Given the description of an element on the screen output the (x, y) to click on. 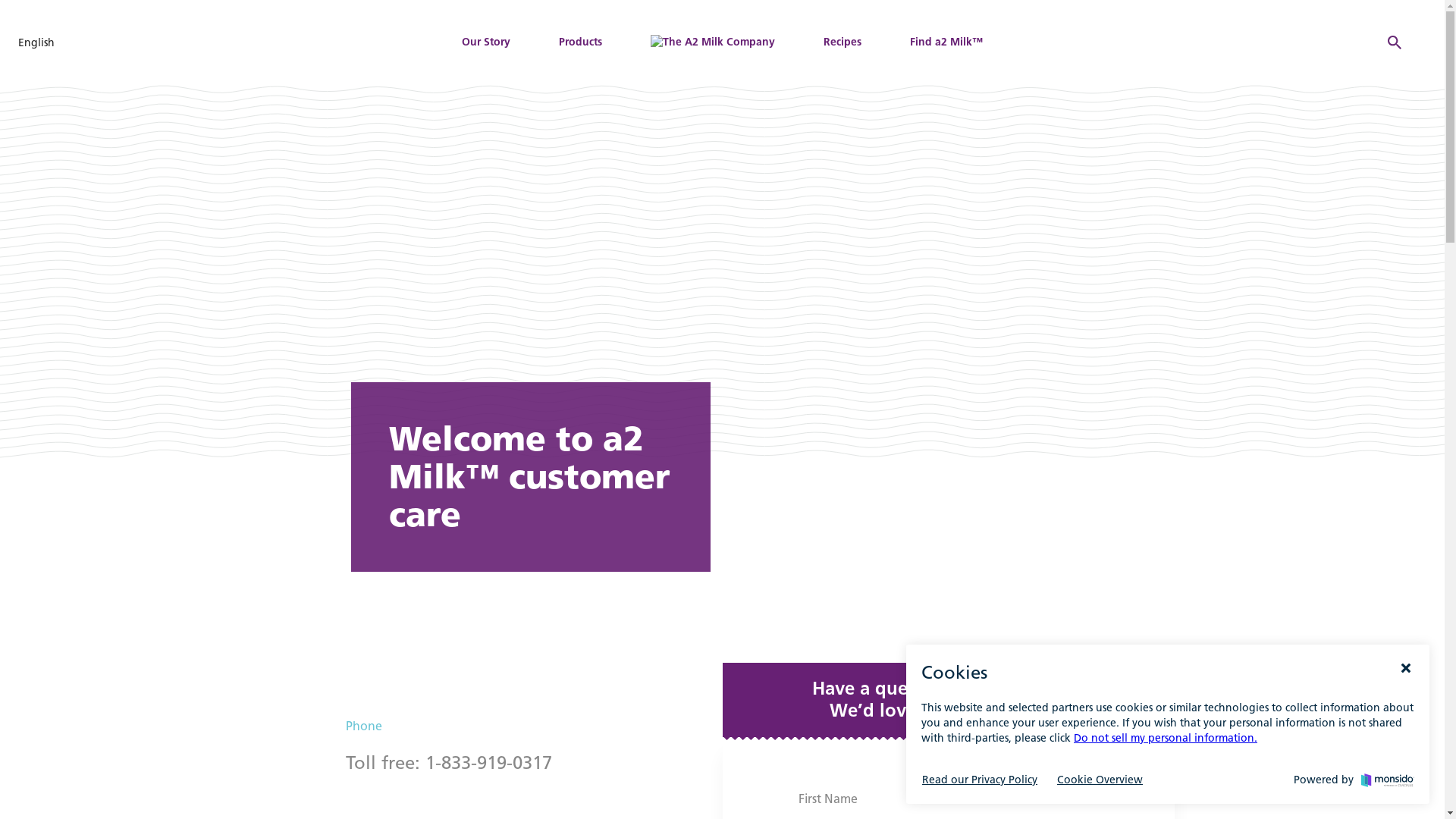
Recipes Element type: text (842, 42)
Our Story Element type: text (485, 42)
Products Element type: text (580, 42)
